Given the description of an element on the screen output the (x, y) to click on. 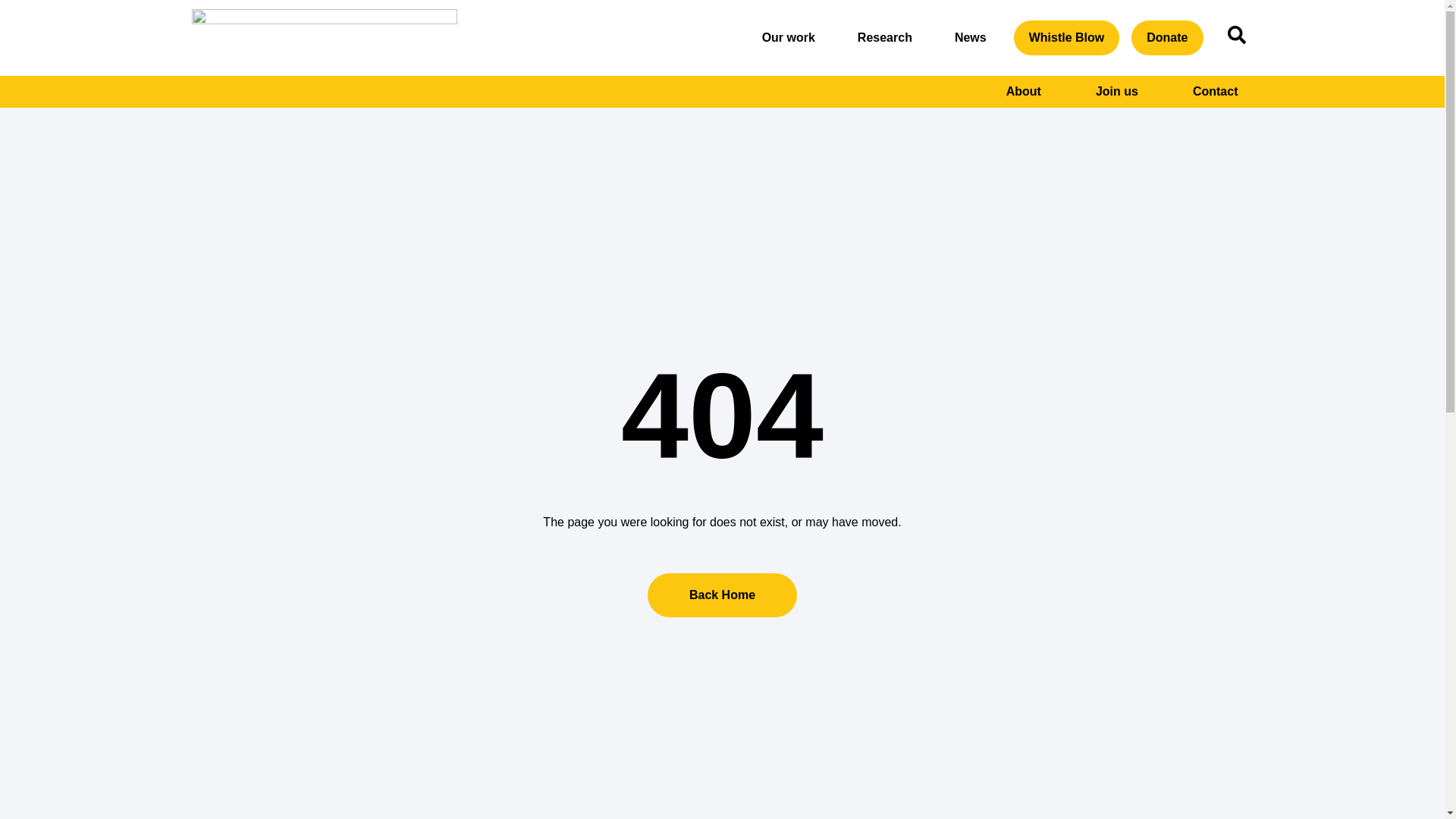
News (970, 37)
Donate (1166, 37)
Whistle Blow (1066, 37)
Our work (787, 37)
Research (885, 37)
